Given the description of an element on the screen output the (x, y) to click on. 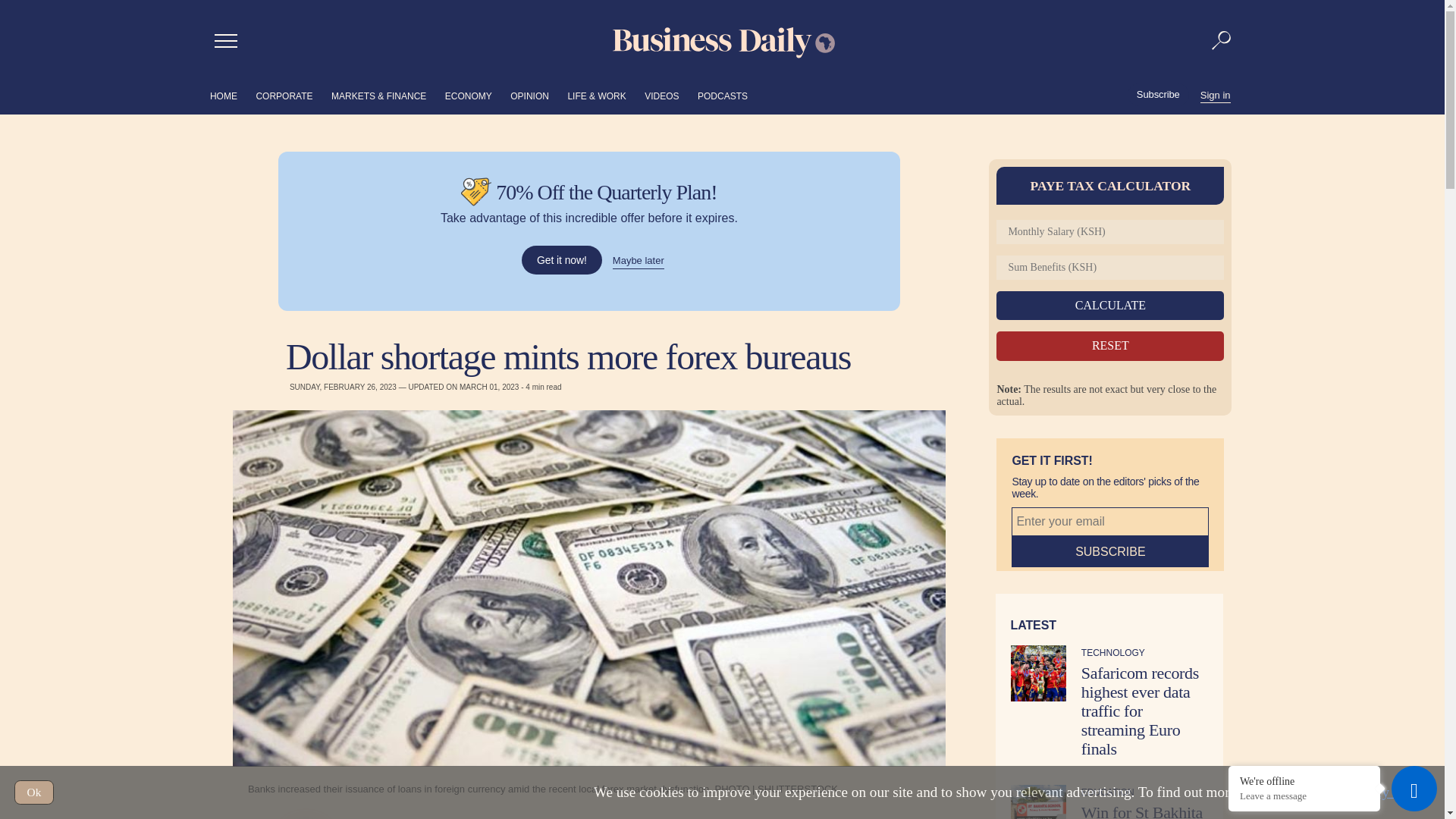
Privacy Policy (1386, 791)
Ok (33, 792)
Privacy Policy (1386, 791)
PODCASTS (722, 95)
VIDEOS (661, 95)
ECONOMY (468, 95)
OPINION (529, 95)
HOME (223, 95)
Subscribe (1109, 551)
Sign in (1214, 94)
CORPORATE (284, 95)
Subscribe (1157, 94)
